Given the description of an element on the screen output the (x, y) to click on. 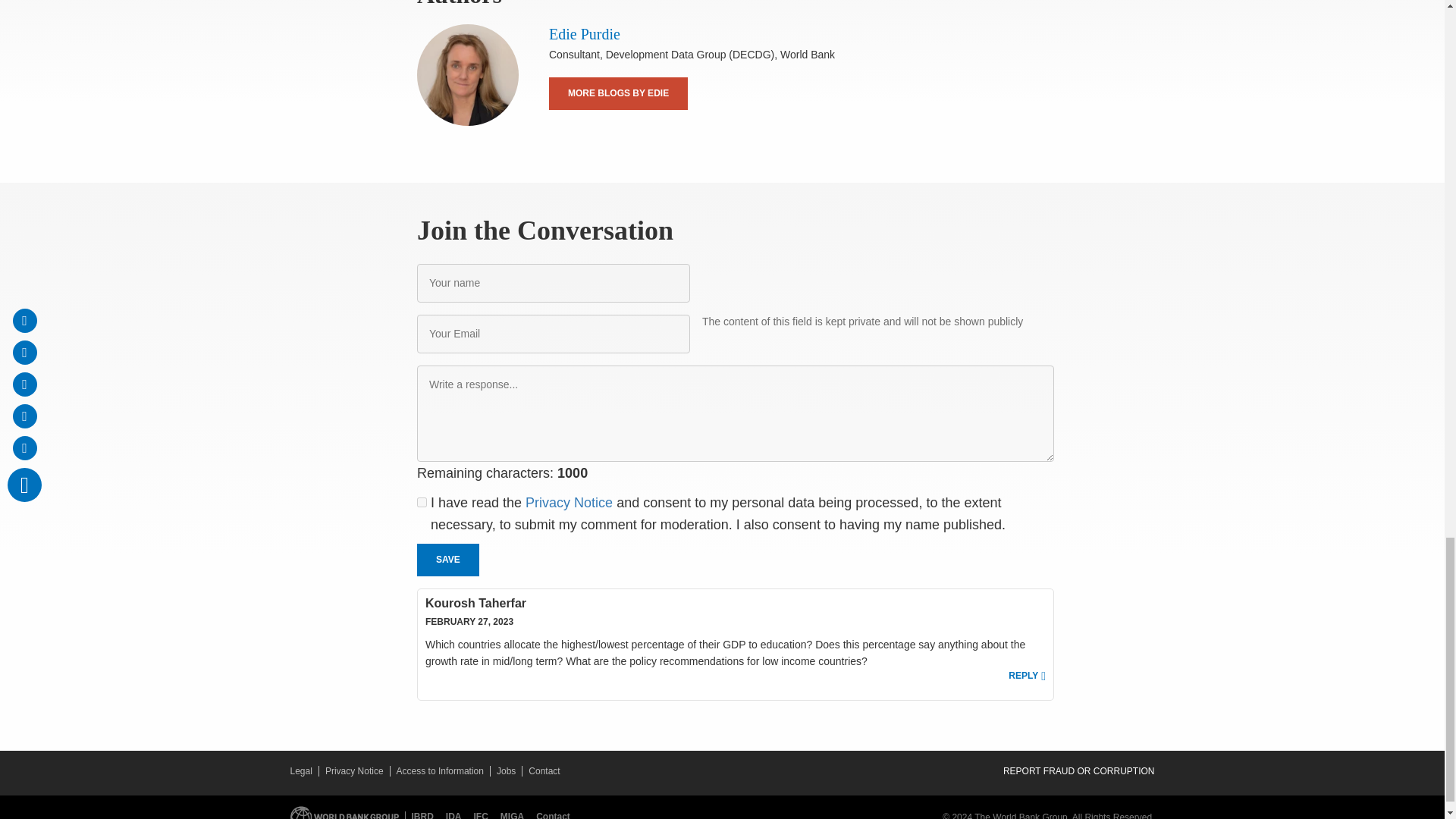
IDA (456, 815)
Your name (553, 282)
MIGA (514, 815)
IBRD (421, 815)
Edie Purdie's picture (467, 75)
IFC (484, 815)
1 (421, 501)
MORE BLOGS BY EDIE (617, 92)
SAVE (447, 559)
Edie Purdie (584, 33)
